Given the description of an element on the screen output the (x, y) to click on. 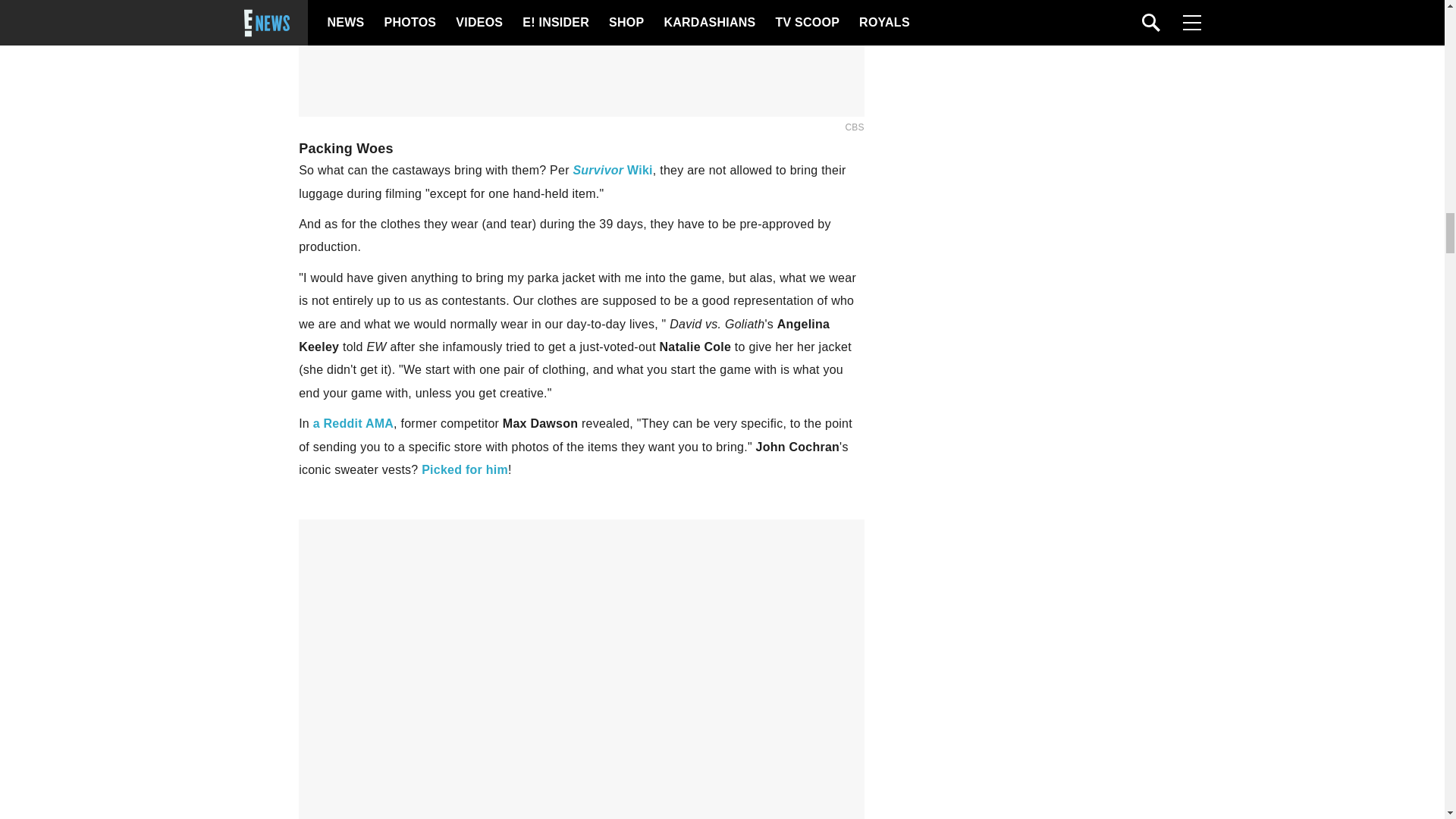
Survivor Wiki (612, 169)
a Reddit AMA (353, 422)
Picked for him (465, 469)
